Given the description of an element on the screen output the (x, y) to click on. 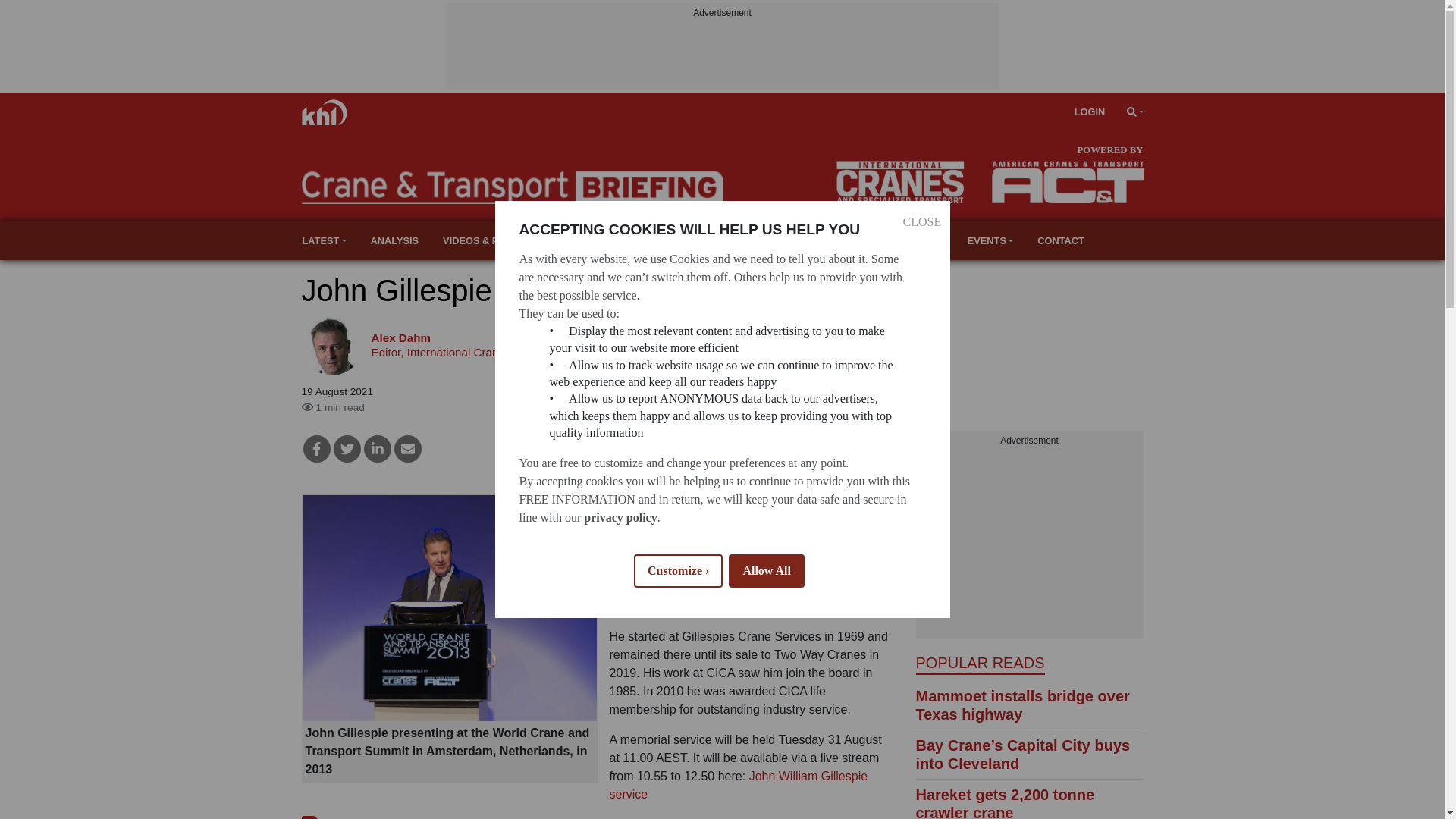
John William Gillespie (738, 784)
Share this page via email (408, 448)
3rd party ad content (1028, 543)
3rd party ad content (721, 55)
Share this page on Twitter (347, 448)
Share this page on Linkedin (377, 448)
Share this page on Facebook (316, 448)
